Given the description of an element on the screen output the (x, y) to click on. 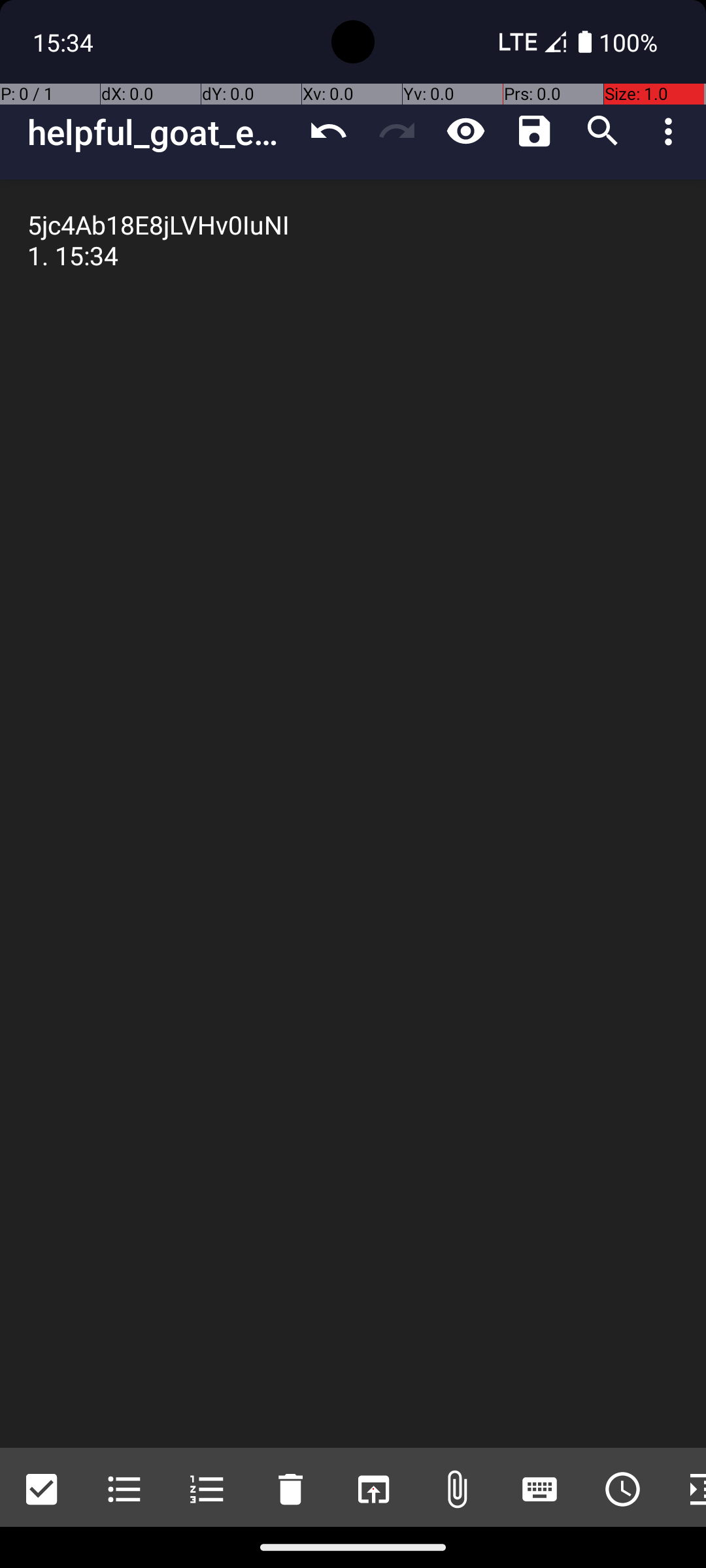
helpful_goat_edited Element type: android.widget.TextView (160, 131)
5jc4Ab18E8jLVHv0IuNI
15:34 Element type: android.widget.EditText (353, 813)
